Given the description of an element on the screen output the (x, y) to click on. 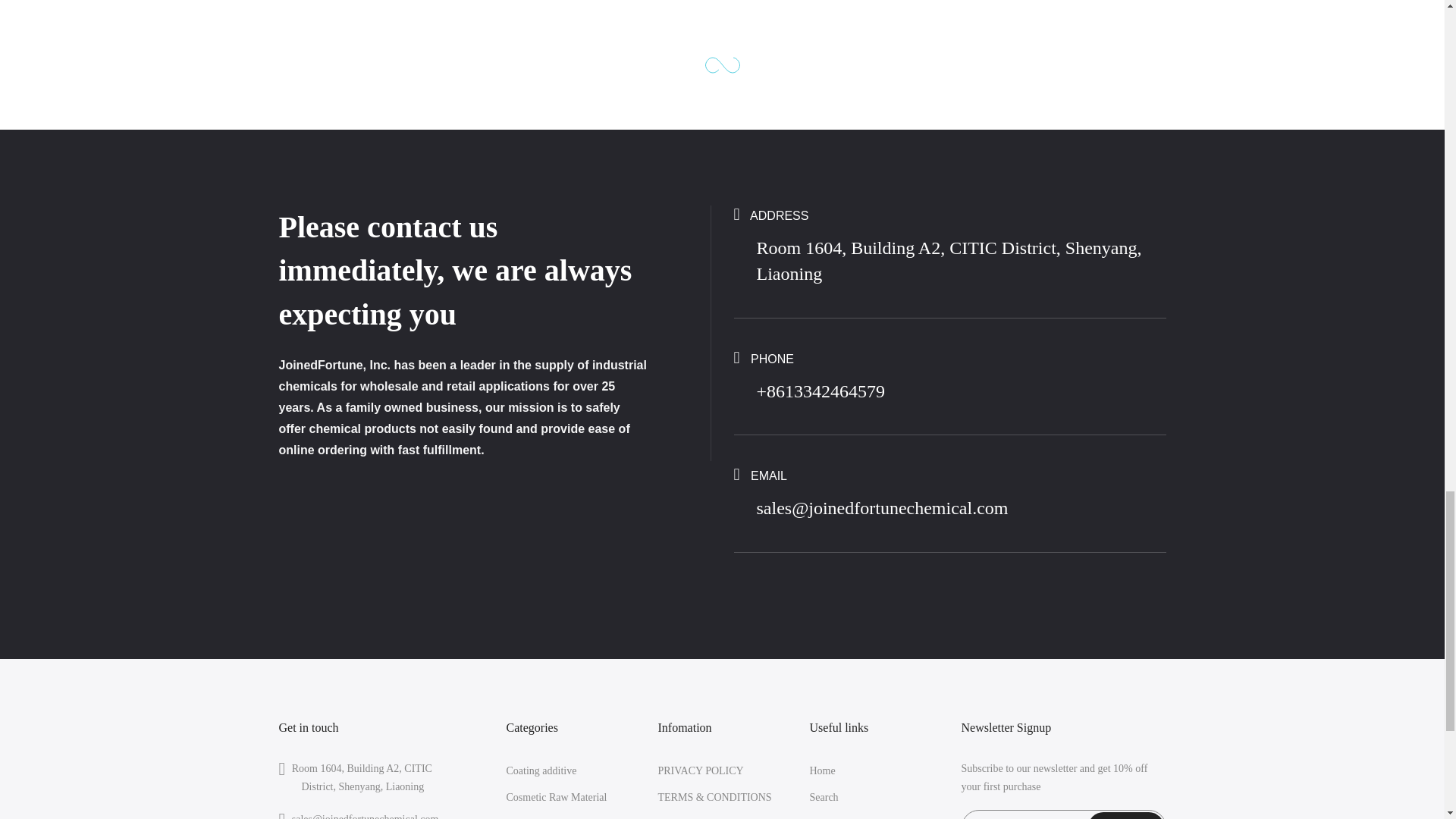
Coating additive (541, 770)
Cosmetic Raw Material (556, 797)
